Given the description of an element on the screen output the (x, y) to click on. 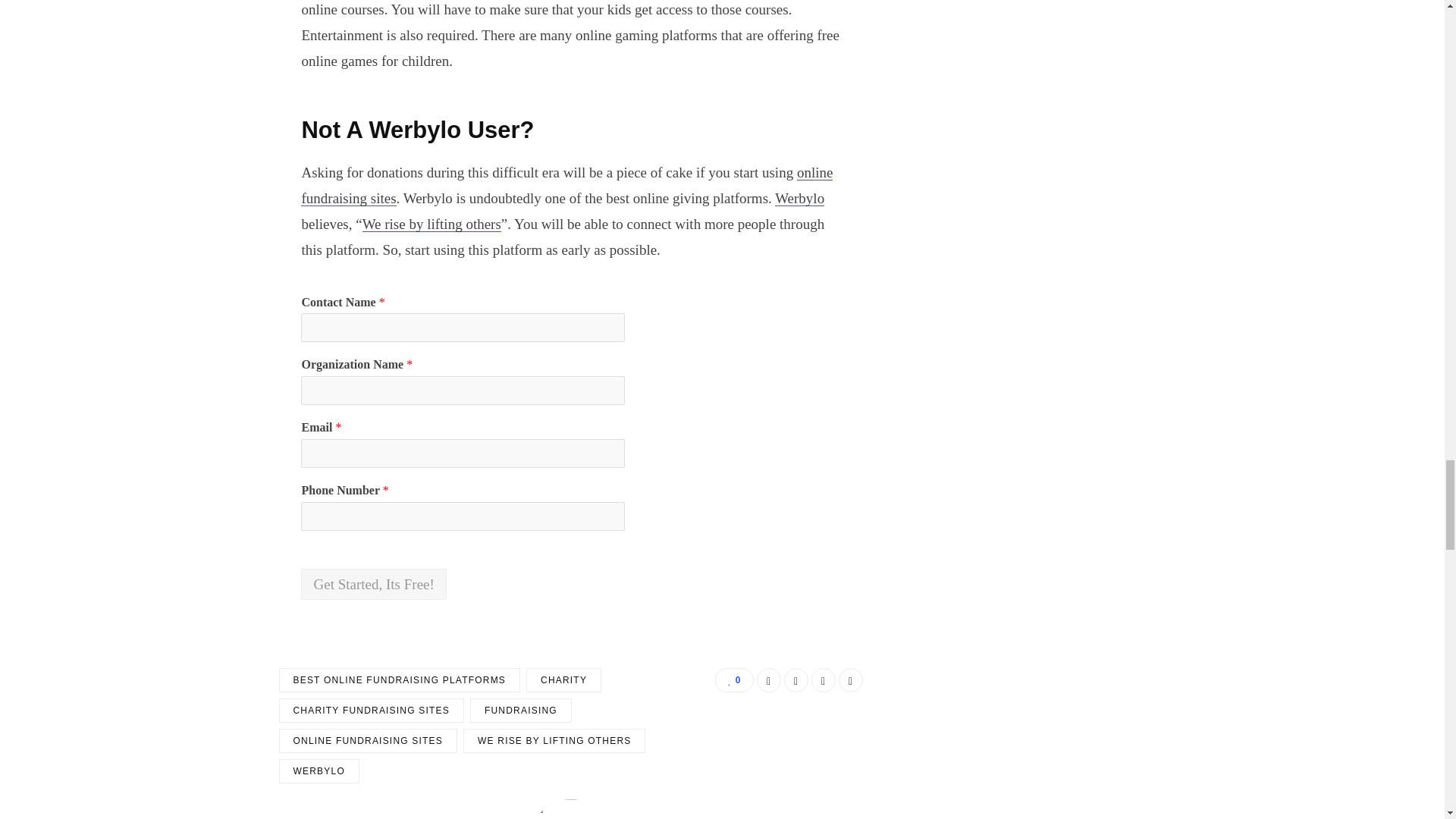
LinkedIn (822, 680)
Get Started, Its Free! (373, 583)
Share on Twitter (796, 680)
Werbylo (799, 198)
Pinterest (850, 680)
Share on Facebook (768, 680)
online fundraising sites (566, 185)
BEST ONLINE FUNDRAISING PLATFORMS (400, 680)
CHARITY FUNDRAISING SITES (371, 710)
CHARITY (563, 680)
